Given the description of an element on the screen output the (x, y) to click on. 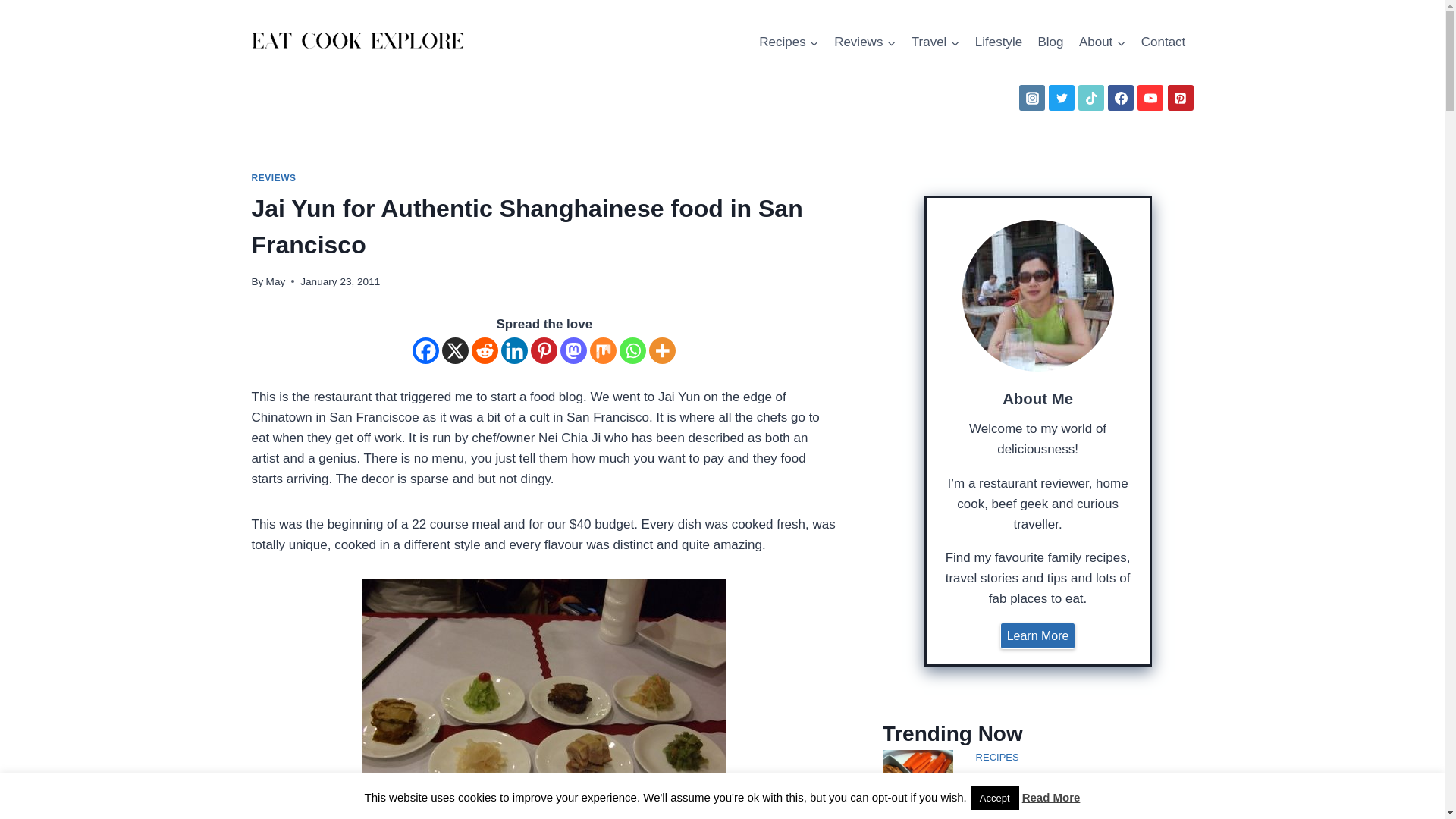
Reviews (865, 42)
Blog (1049, 42)
X (455, 350)
Linkedin (513, 350)
Jai Yun (544, 699)
Contact (1163, 42)
About (1102, 42)
May (275, 281)
Whatsapp (633, 350)
Reddit (484, 350)
